Given the description of an element on the screen output the (x, y) to click on. 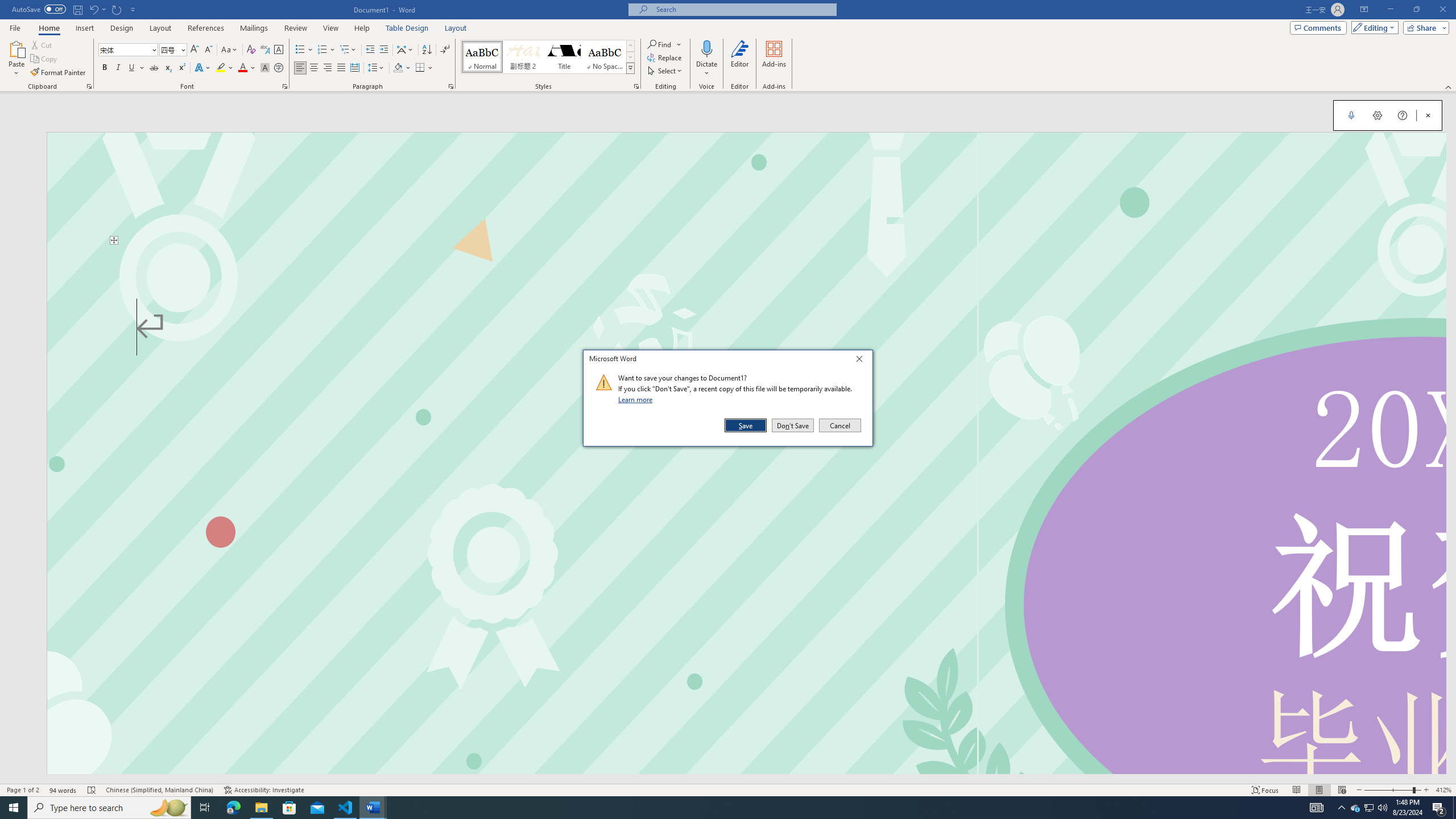
AutomationID: 4105 (1316, 807)
Task View (204, 807)
Microsoft Edge (233, 807)
